Given the description of an element on the screen output the (x, y) to click on. 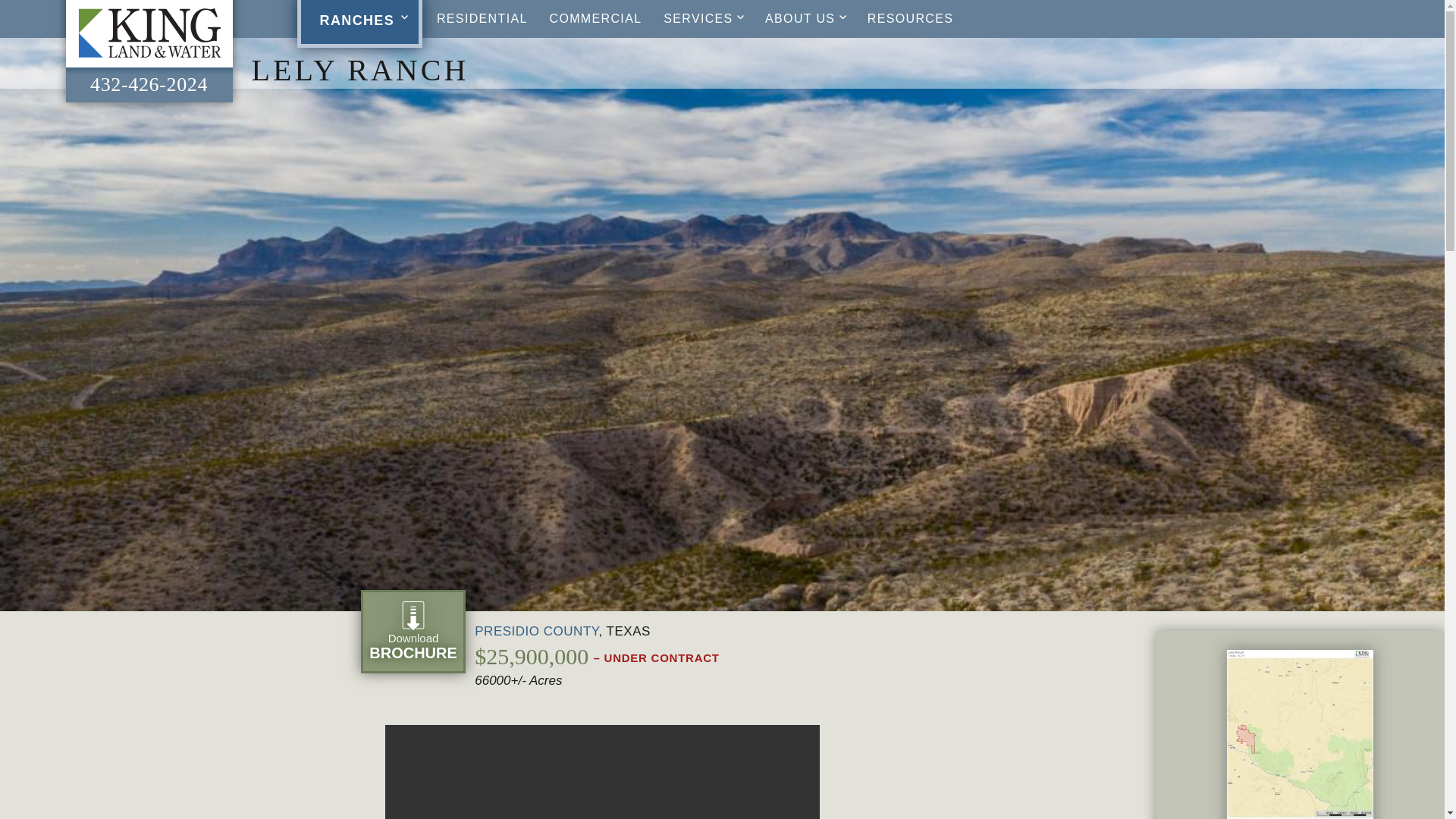
ABOUT US (805, 18)
RESIDENTIAL (482, 18)
RESOURCES (909, 18)
432-426-2024 (148, 84)
SERVICES (703, 18)
RANCHES (360, 22)
COMMERCIAL (595, 18)
